Given the description of an element on the screen output the (x, y) to click on. 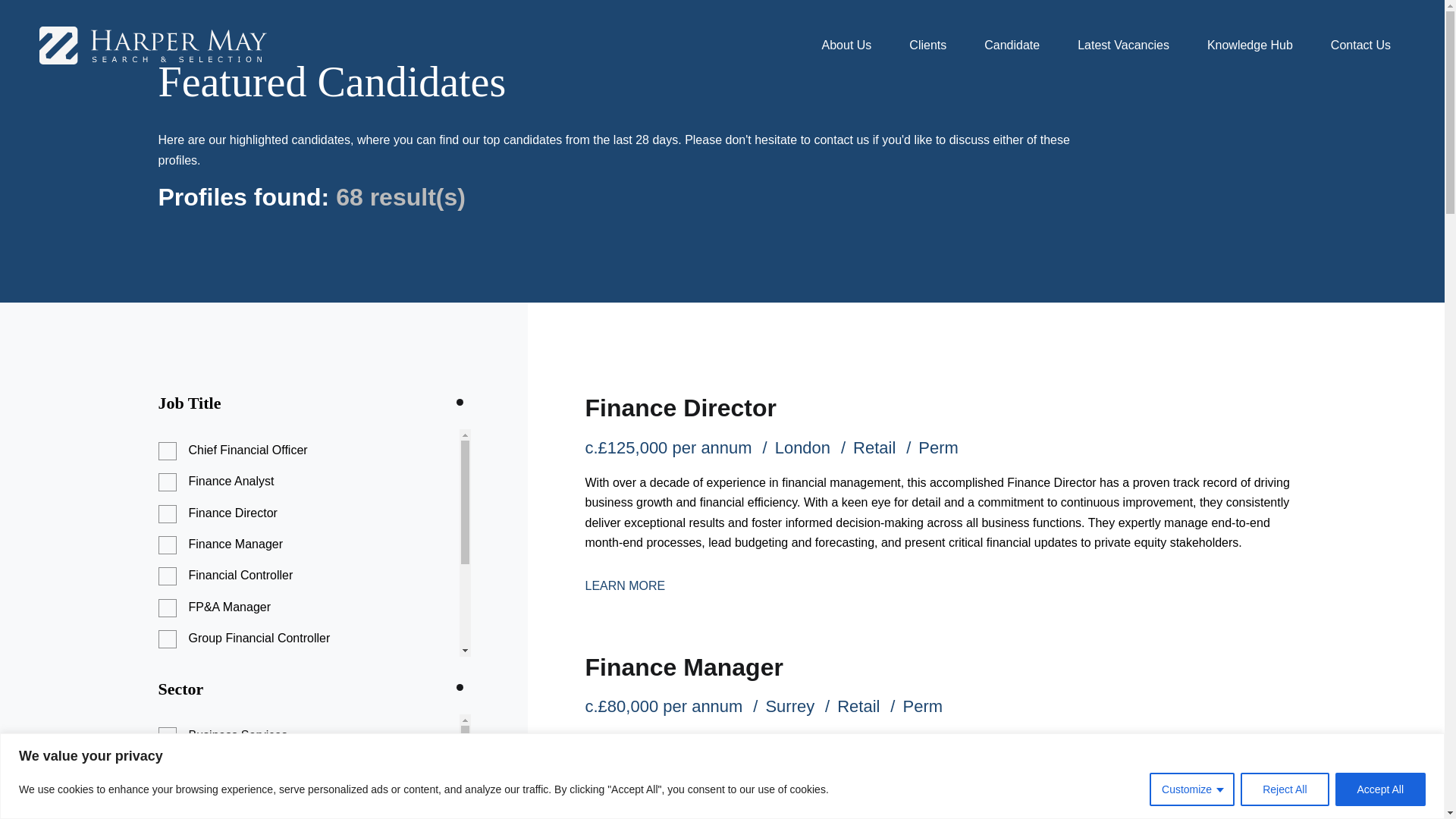
Clients (927, 44)
LEARN MORE (625, 585)
About Us (847, 44)
Finance Manager (684, 666)
Knowledge Hub (1249, 44)
Reject All (1283, 788)
Finance Director (680, 407)
Accept All (1380, 788)
Latest Vacancies (1123, 44)
Contact Us (1360, 44)
Candidate (1011, 44)
Customize (1192, 788)
